Given the description of an element on the screen output the (x, y) to click on. 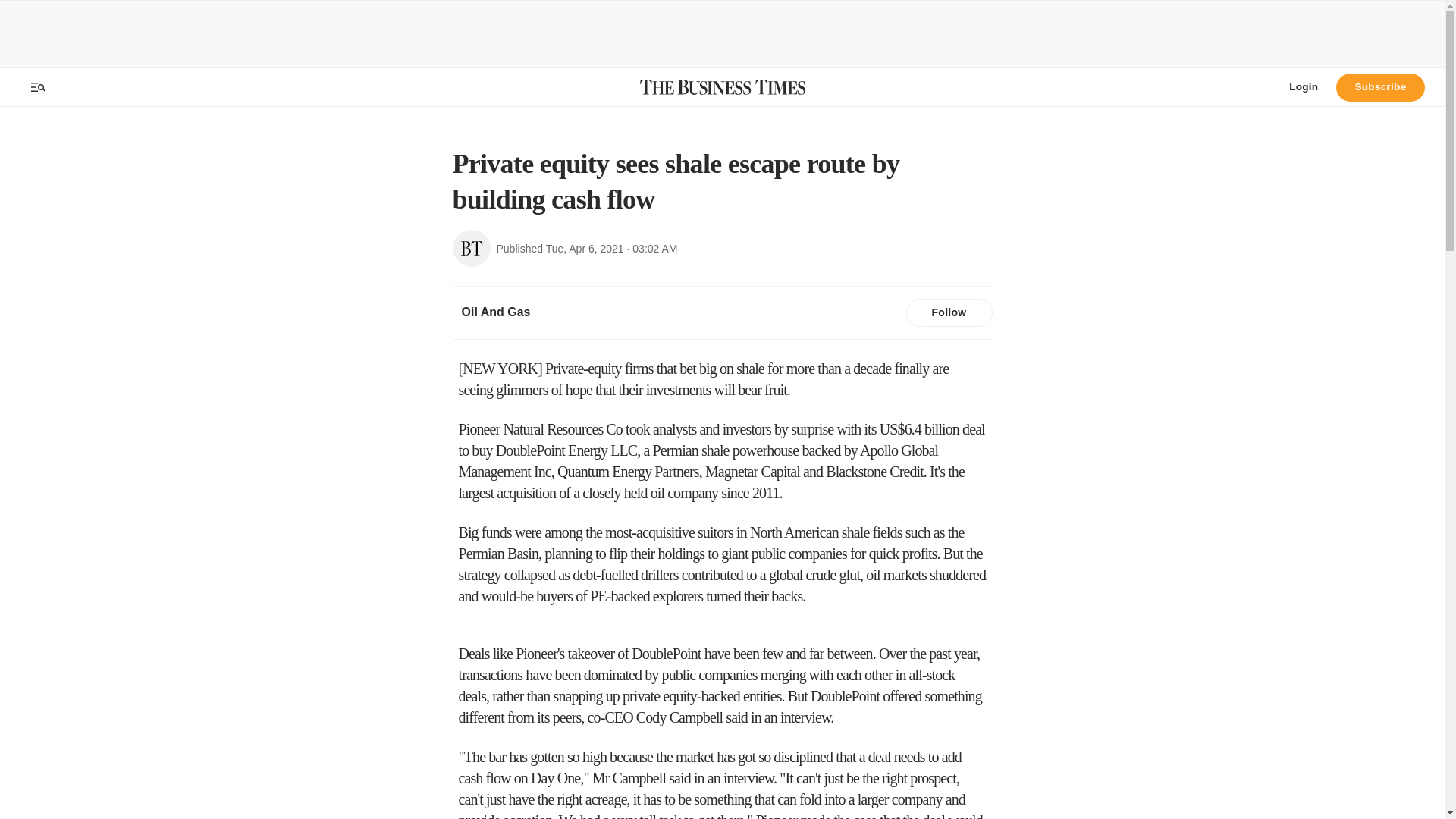
Login (1302, 86)
Subscribe (1379, 86)
Follow (948, 312)
Oil And Gas (494, 312)
The Business Times (722, 86)
